Given the description of an element on the screen output the (x, y) to click on. 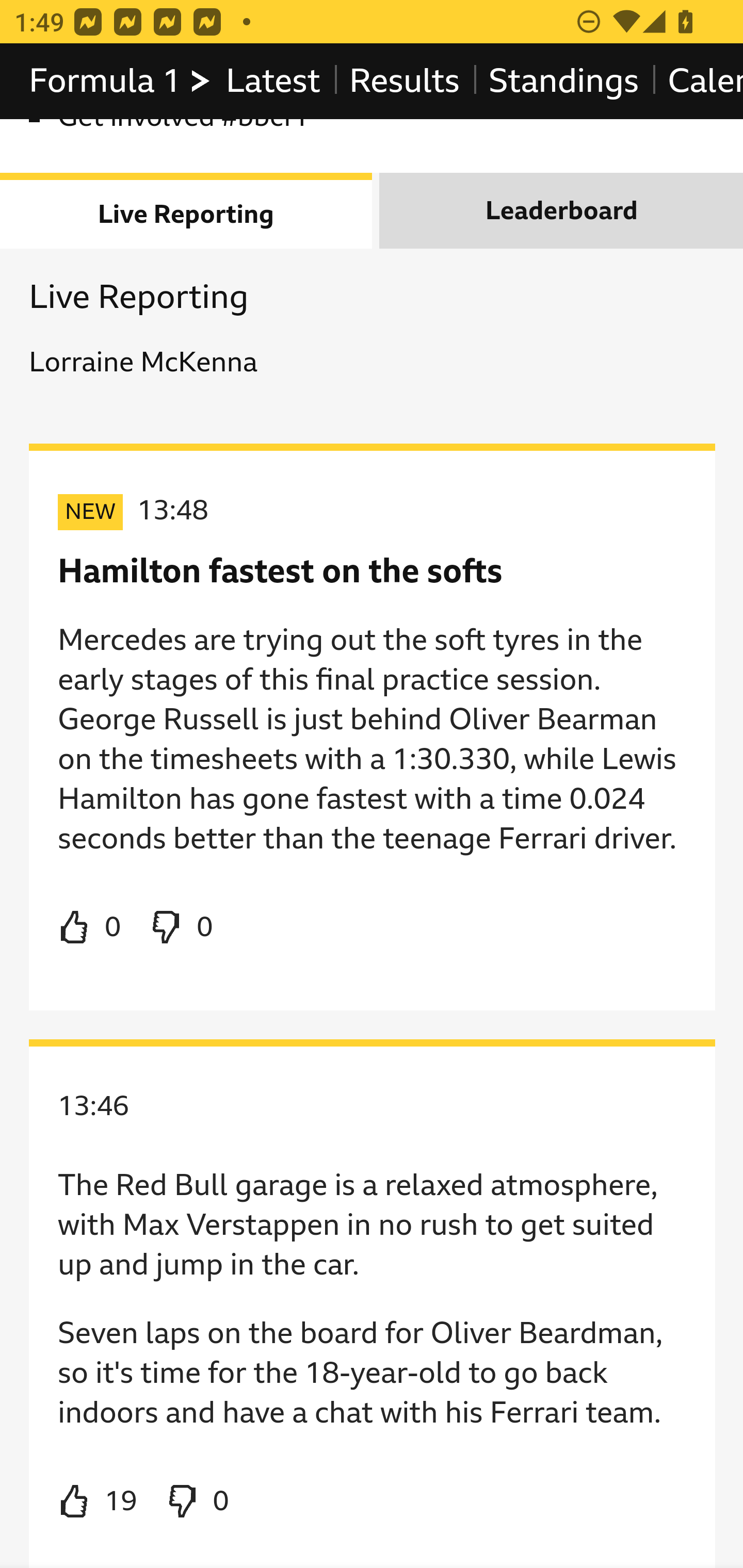
Live Reporting (186, 210)
Leaderboard (560, 210)
Like (89, 927)
Dislike (180, 927)
Like (97, 1500)
Dislike (196, 1500)
